Given the description of an element on the screen output the (x, y) to click on. 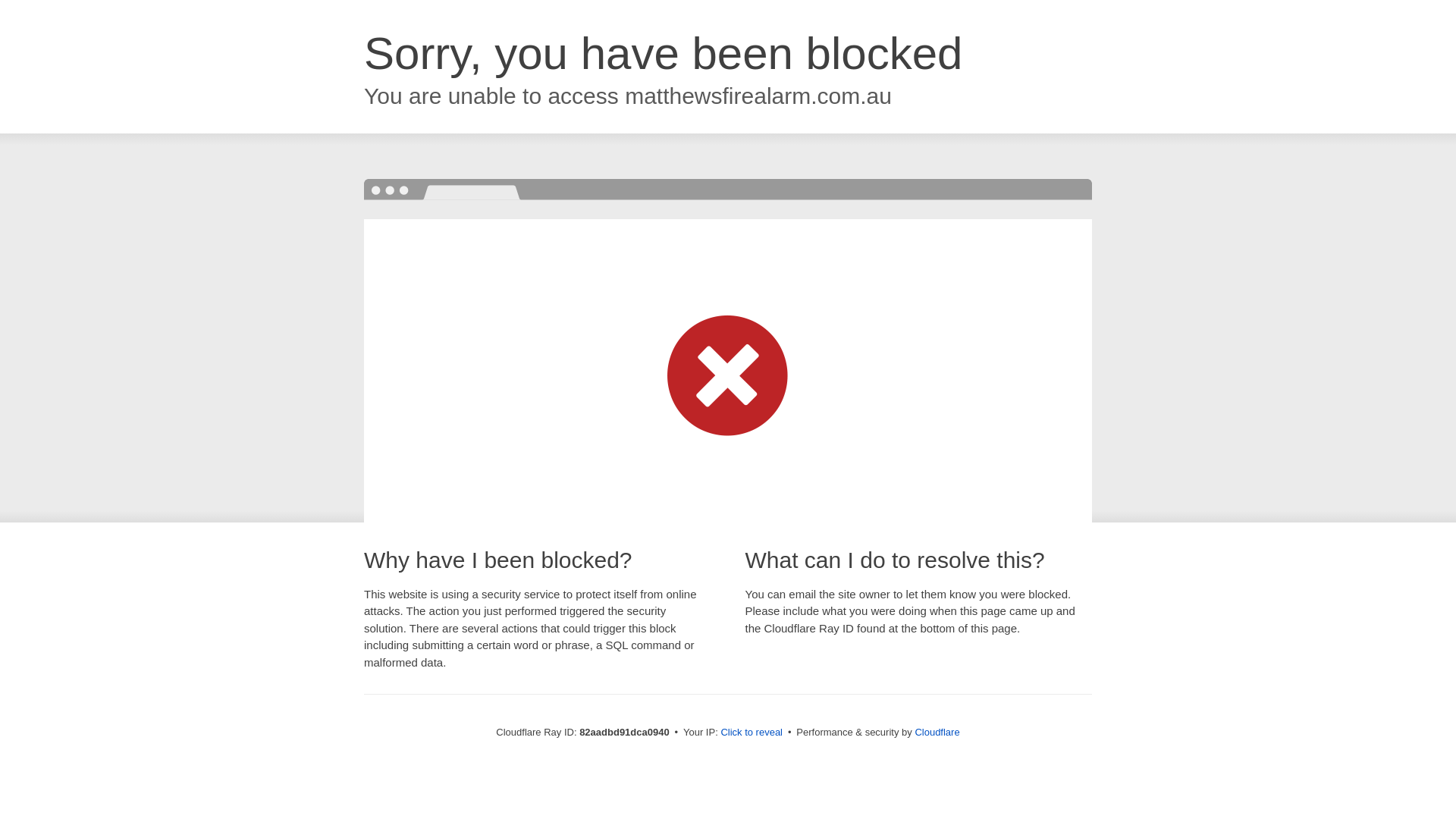
Click to reveal Element type: text (751, 732)
Cloudflare Element type: text (936, 731)
